Given the description of an element on the screen output the (x, y) to click on. 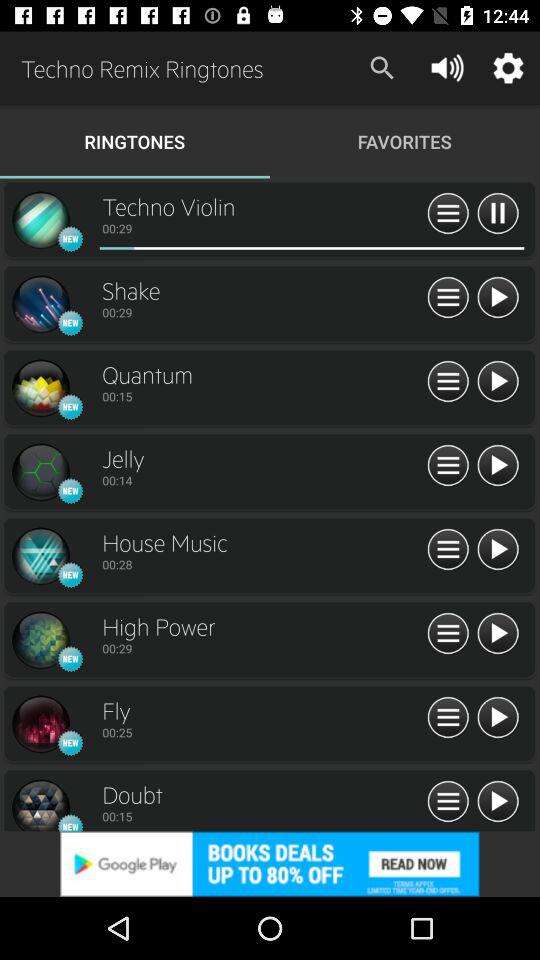
go the play button (497, 297)
